Given the description of an element on the screen output the (x, y) to click on. 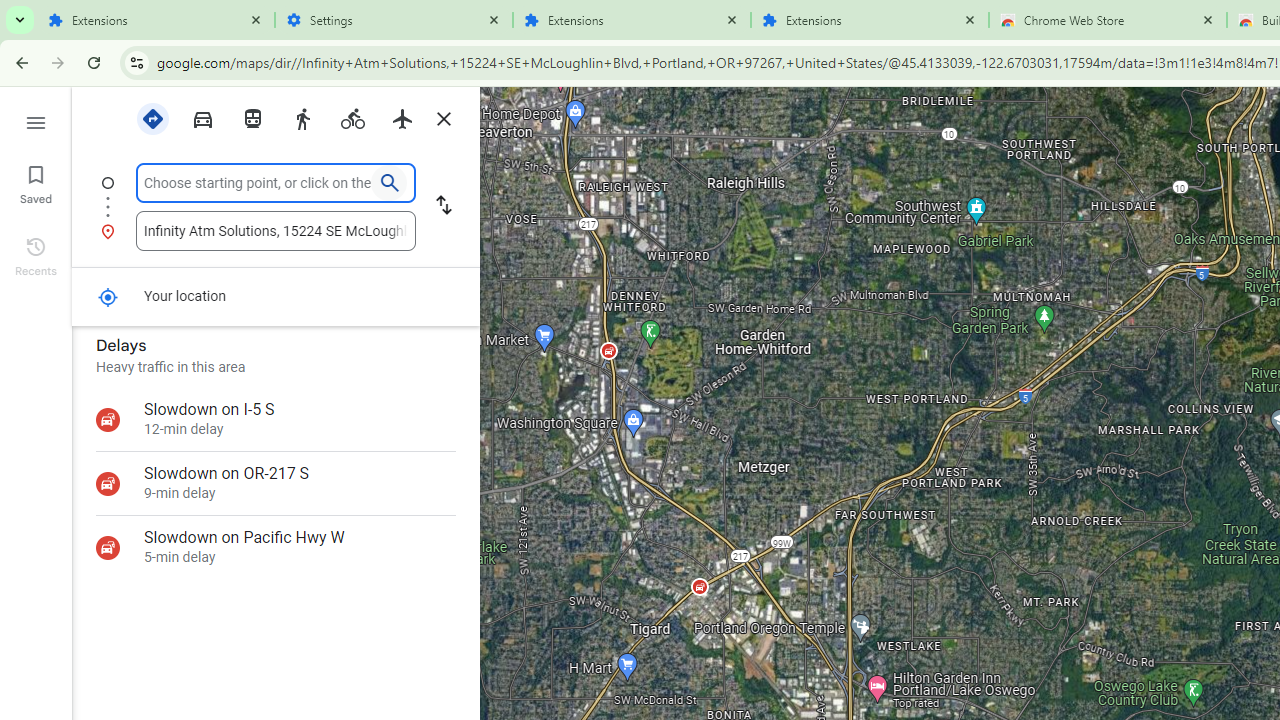
AutomationID: sb_ifc50 (258, 182)
Best travel modes (152, 117)
Extensions (632, 20)
Best travel modes (152, 119)
Driving (202, 119)
Saved (35, 182)
Driving (202, 117)
Walking (302, 117)
Transit (252, 117)
